Given the description of an element on the screen output the (x, y) to click on. 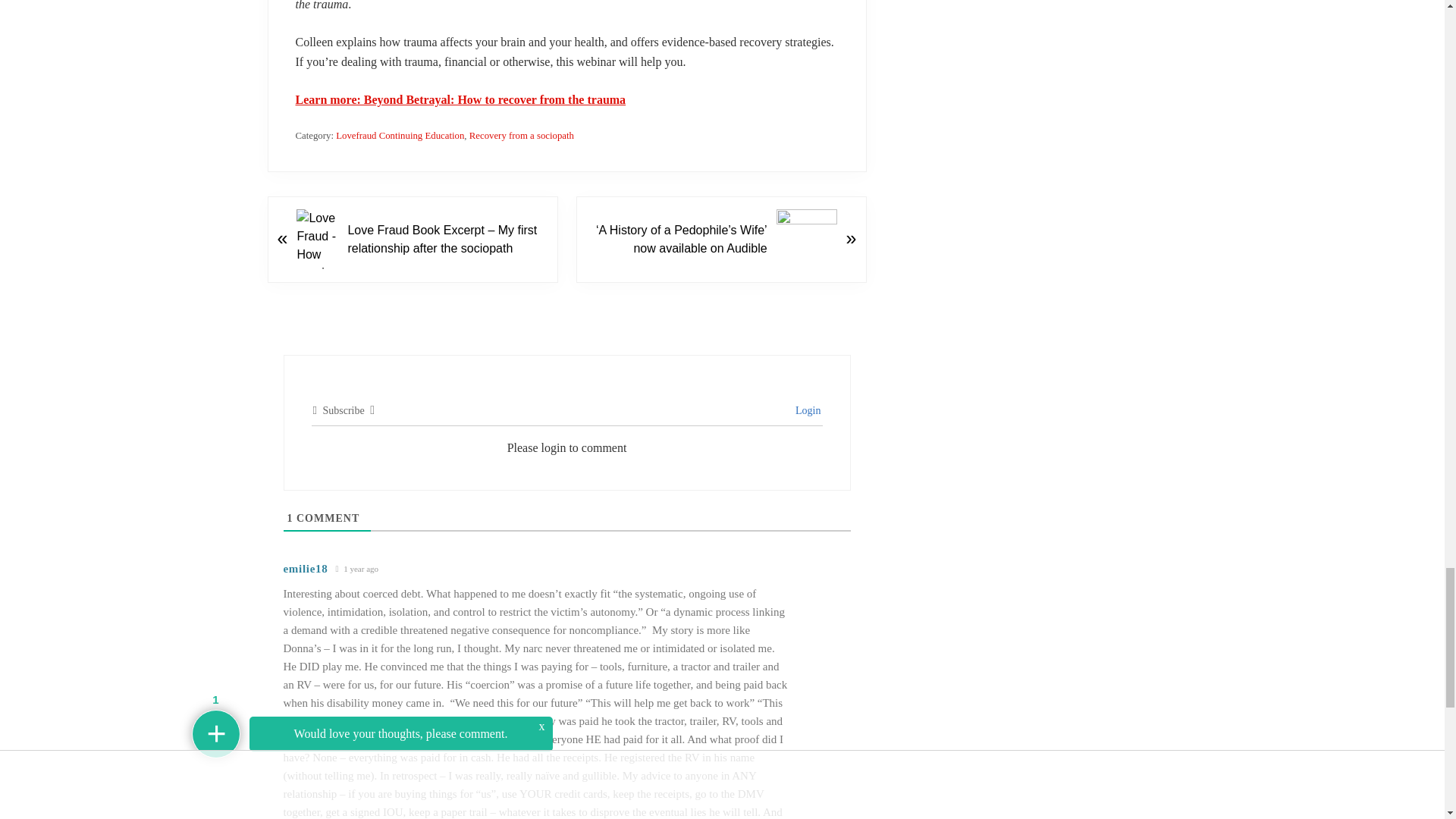
January 18, 2023 11:56 am (356, 568)
